Given the description of an element on the screen output the (x, y) to click on. 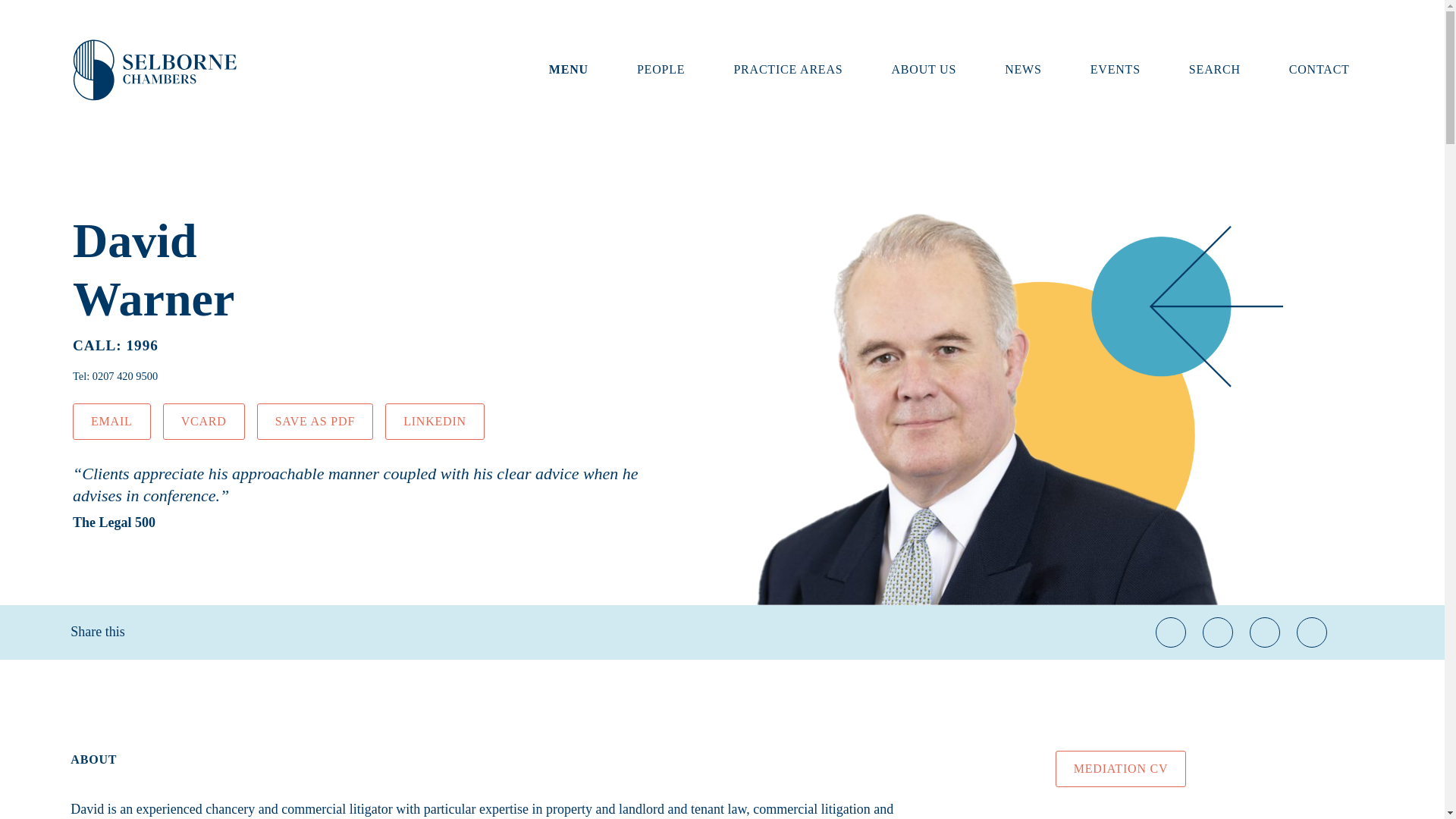
EVENTS (1115, 69)
David Warner LinkedIn (434, 421)
David Warner phone (125, 376)
ABOUT US (923, 69)
PEOPLE (660, 69)
PRACTICE AREAS (788, 69)
NEWS (1023, 69)
David Warner email (111, 421)
